Given the description of an element on the screen output the (x, y) to click on. 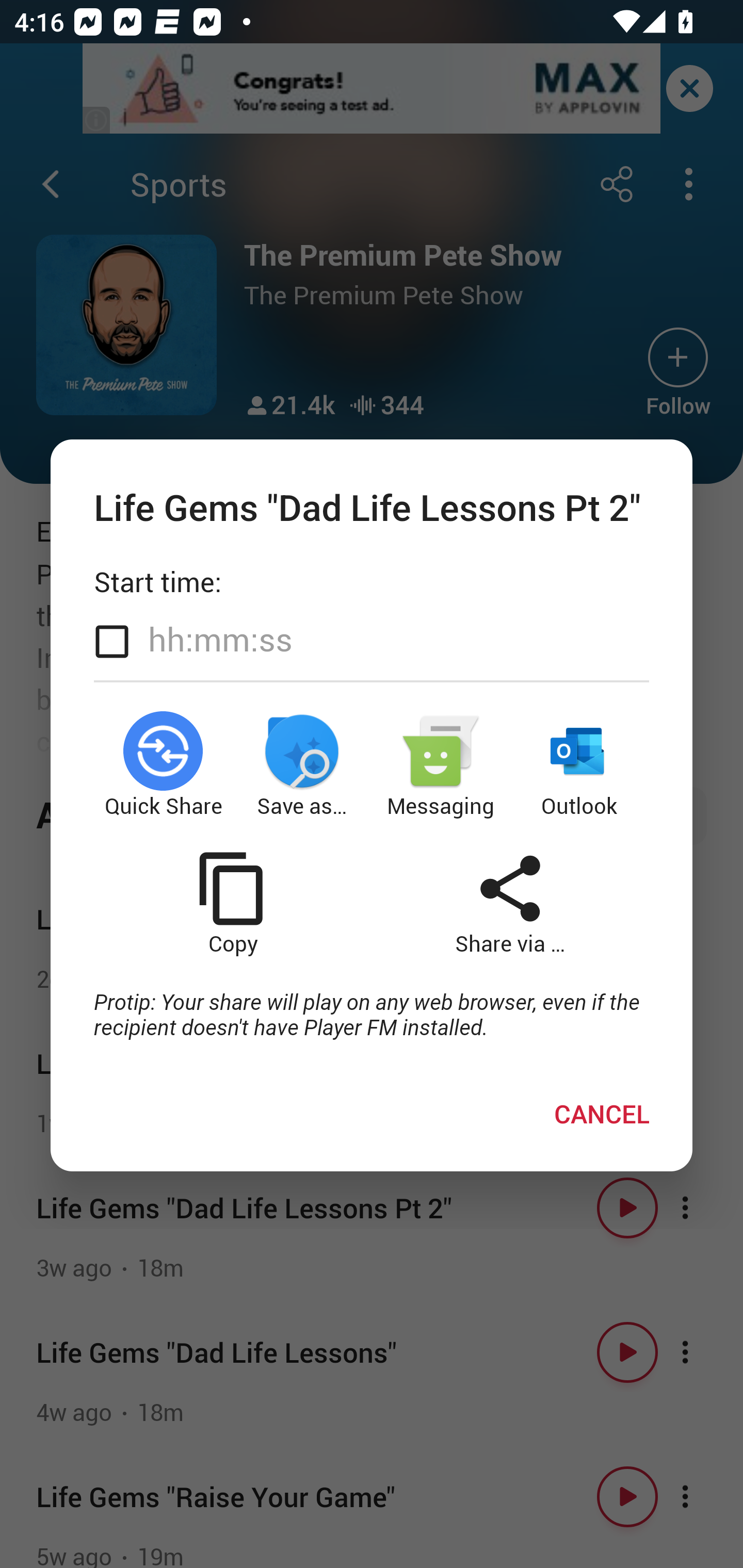
hh:mm:ss (220, 639)
Quick Share (163, 765)
Save as… (301, 765)
Messaging (440, 765)
Outlook (579, 765)
Copy (232, 903)
Share via … (509, 903)
CANCEL (600, 1113)
